Given the description of an element on the screen output the (x, y) to click on. 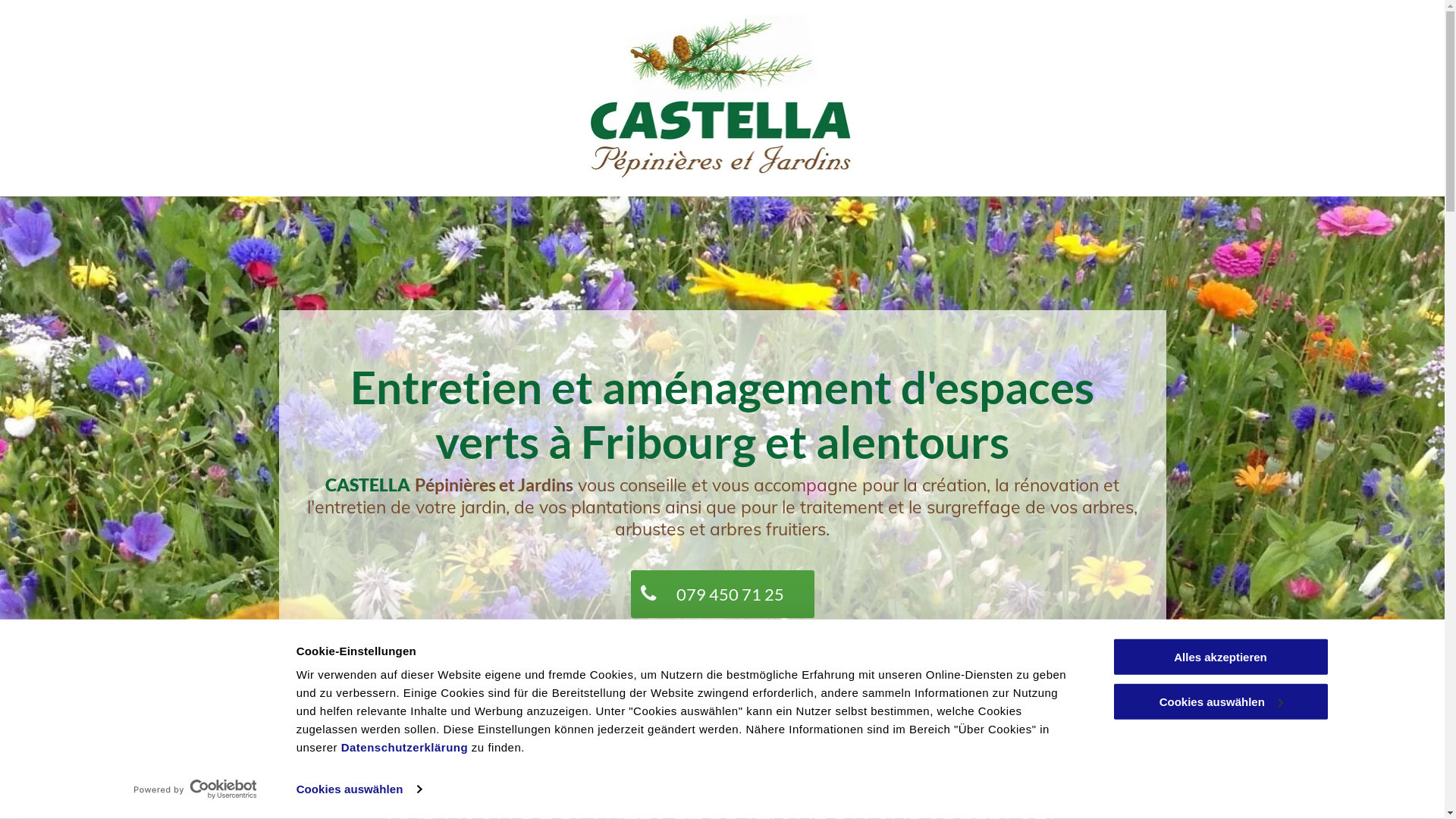
Alles akzeptieren Element type: text (1219, 656)
079 450 71 25 Element type: text (722, 594)
